Given the description of an element on the screen output the (x, y) to click on. 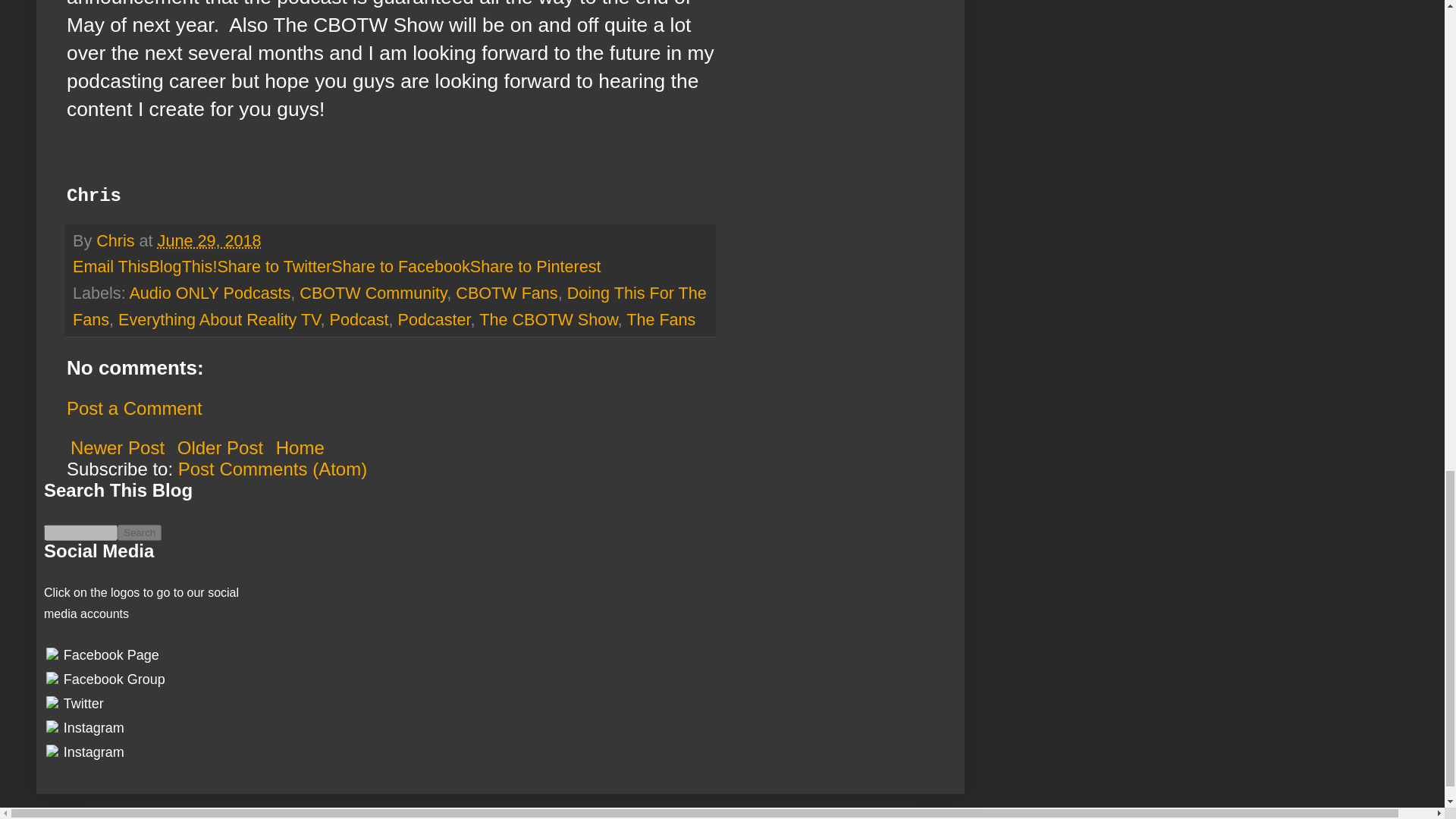
Older Post (219, 447)
Post a Comment (134, 408)
Doing This For The Fans (389, 306)
Search (139, 532)
author profile (117, 240)
search (139, 532)
Newer Post (117, 447)
Newer Post (117, 447)
Chris (117, 240)
search (80, 532)
permanent link (209, 240)
CBOTW Community (372, 292)
Audio ONLY Podcasts (209, 292)
Search (139, 532)
Older Post (219, 447)
